Given the description of an element on the screen output the (x, y) to click on. 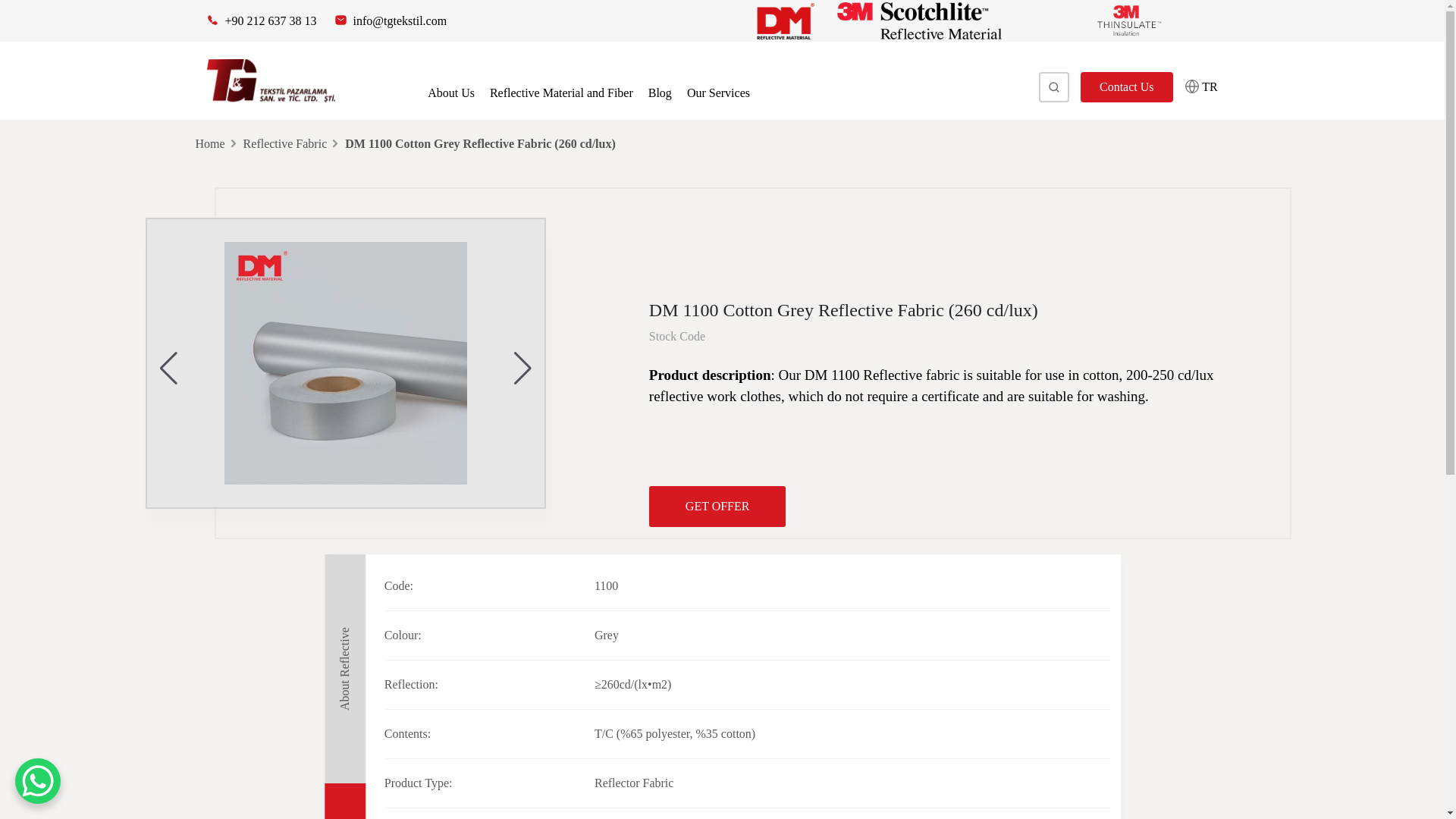
GET OFFER (717, 506)
About Us (451, 92)
Reflective Fabric (285, 143)
Technicial Specifications (344, 800)
Blog (659, 92)
TR (1201, 86)
Contact Us (1126, 87)
Reflective Material and Fiber (561, 92)
Our Services (718, 92)
Home (210, 143)
